Given the description of an element on the screen output the (x, y) to click on. 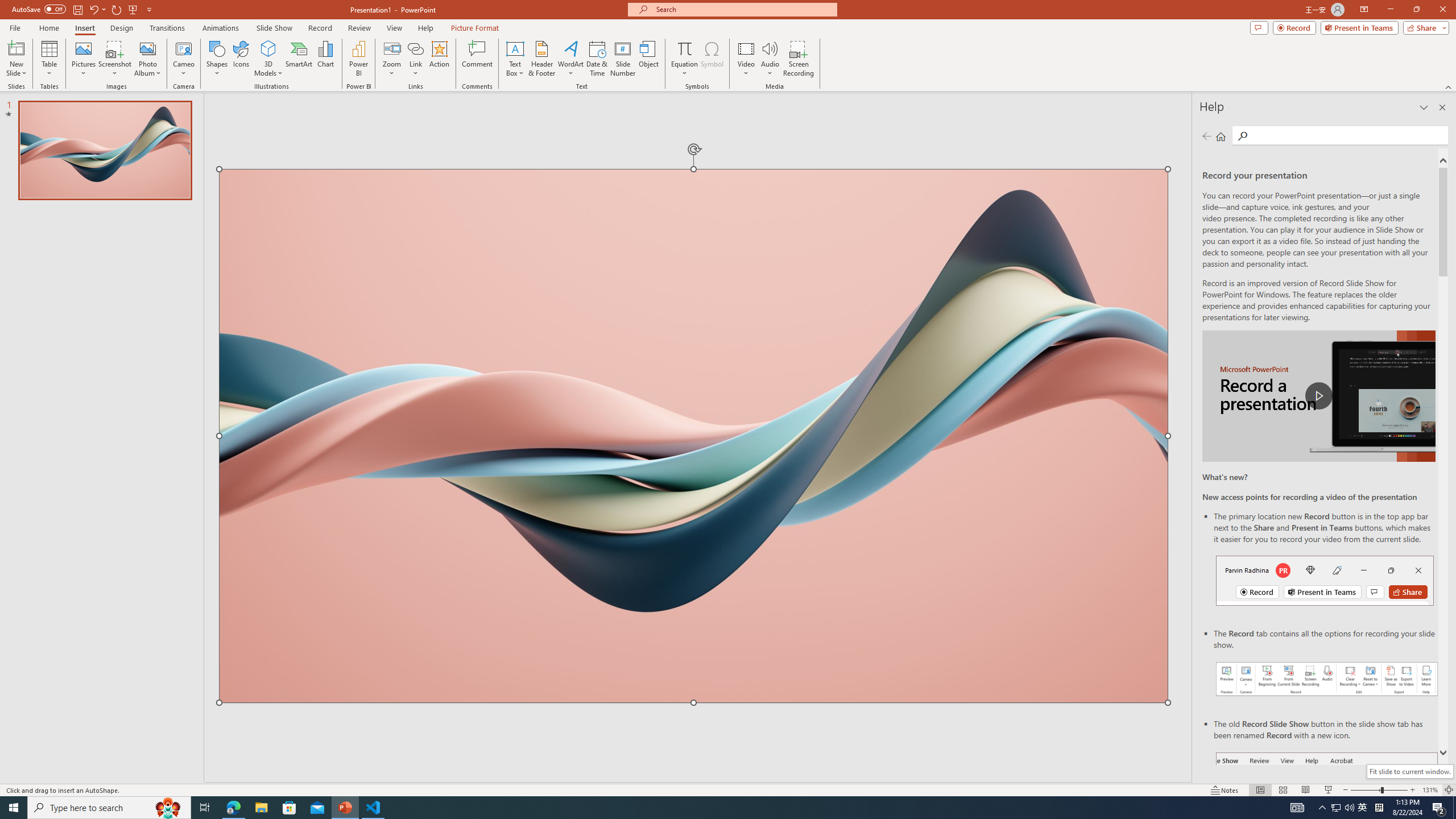
Previous page (1206, 136)
Date & Time... (596, 58)
Object... (649, 58)
Action (439, 58)
Header & Footer... (541, 58)
